Given the description of an element on the screen output the (x, y) to click on. 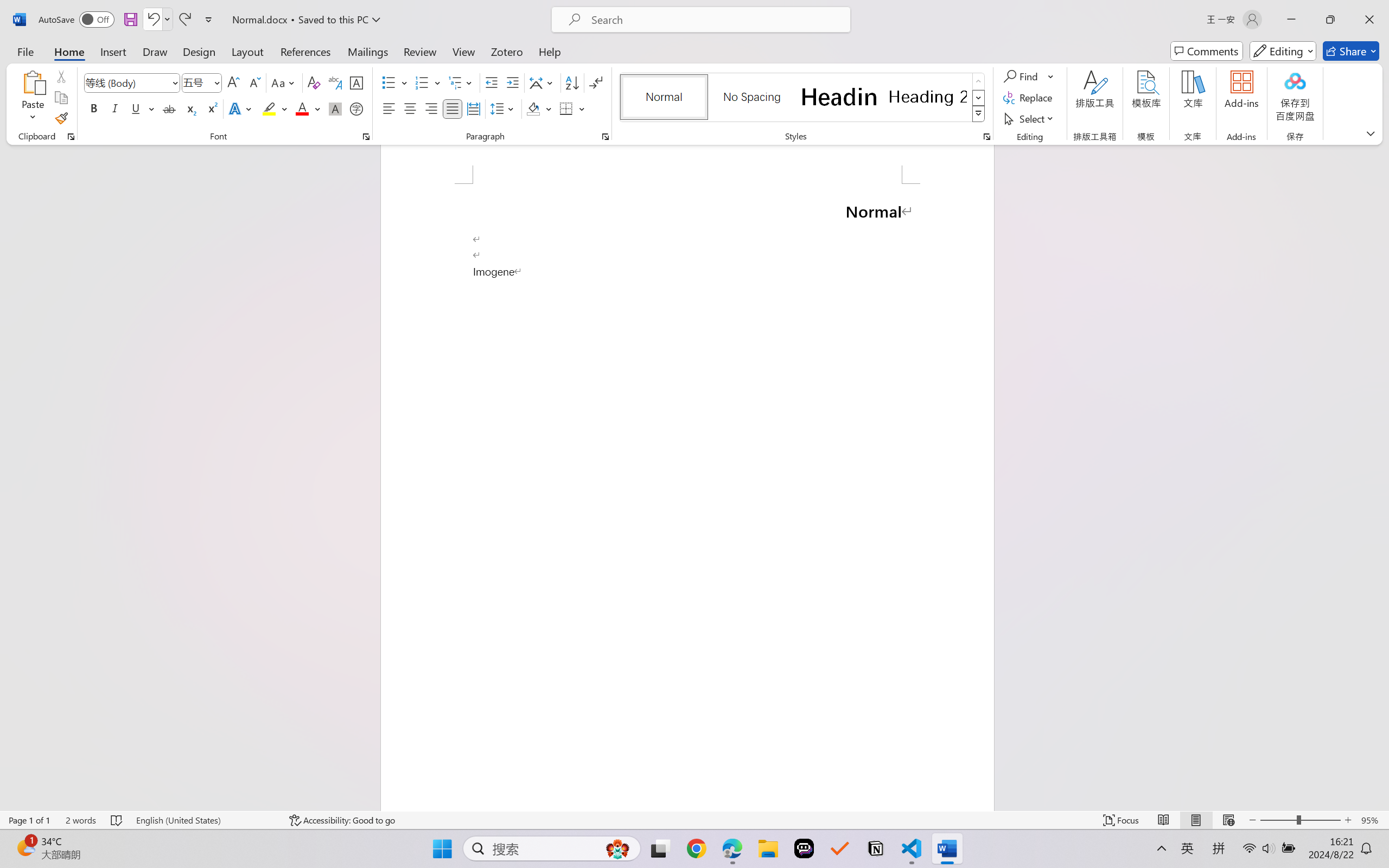
Row Down (978, 97)
Text Highlight Color (274, 108)
Paragraph... (605, 136)
Select (1030, 118)
Styles... (986, 136)
Office Clipboard... (70, 136)
Font Color RGB(255, 0, 0) (302, 108)
